Given the description of an element on the screen output the (x, y) to click on. 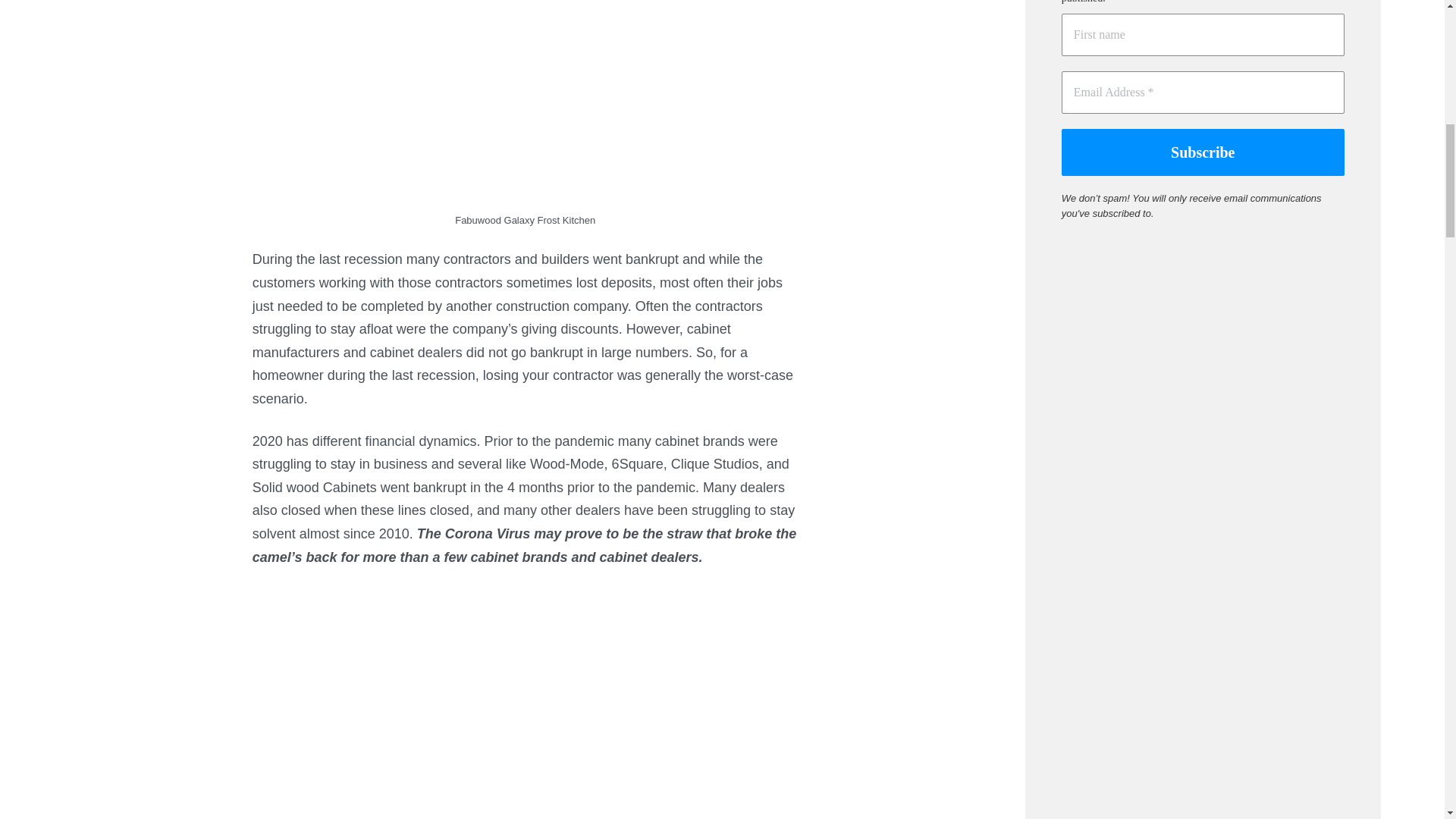
Email Address (1202, 92)
First name (1202, 34)
Subscribe (1202, 152)
